Given the description of an element on the screen output the (x, y) to click on. 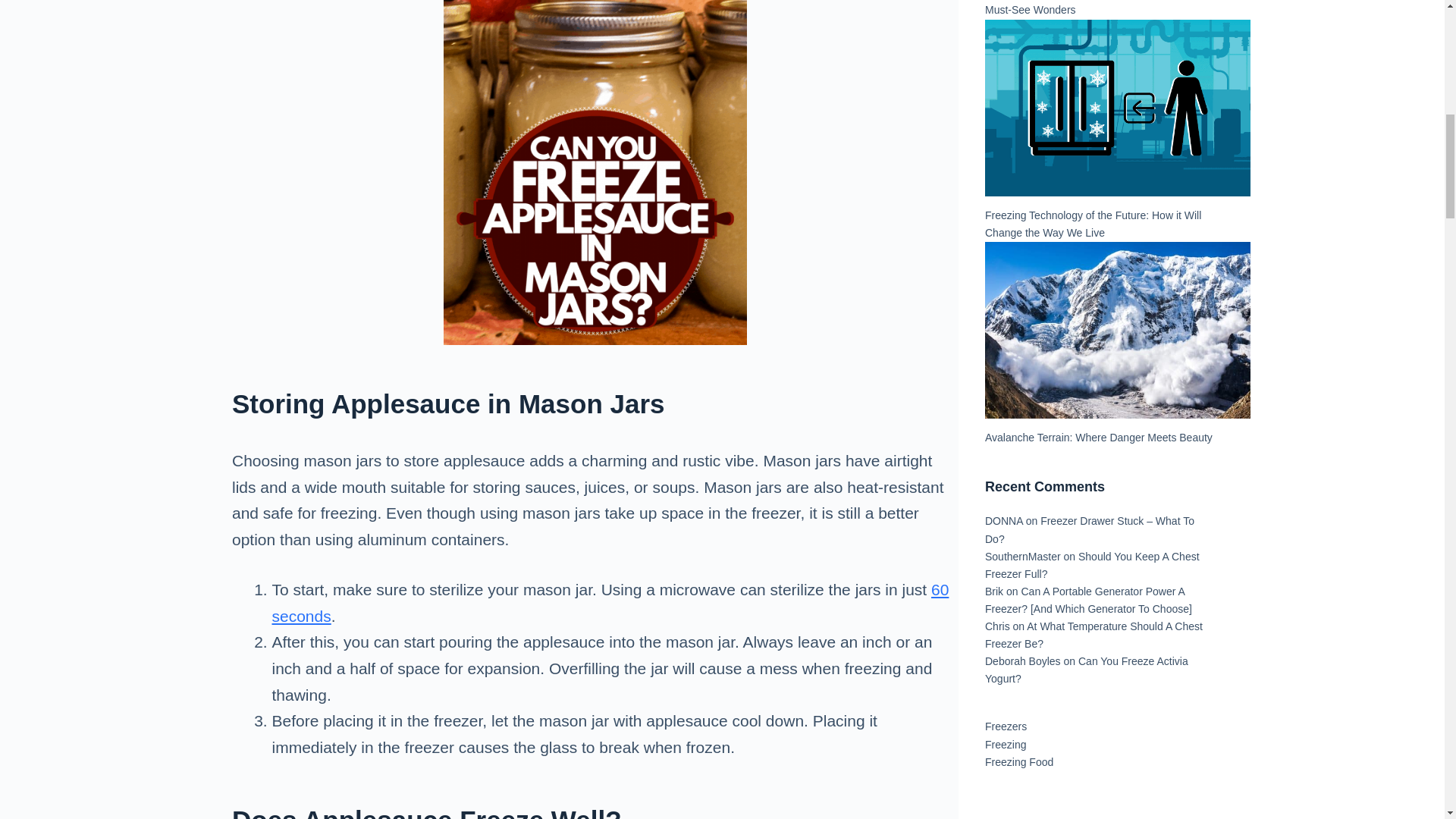
60 seconds (609, 602)
The Most Majestic Frozen Waterfalls: Top 7 Must-See Wonders (1086, 7)
